Given the description of an element on the screen output the (x, y) to click on. 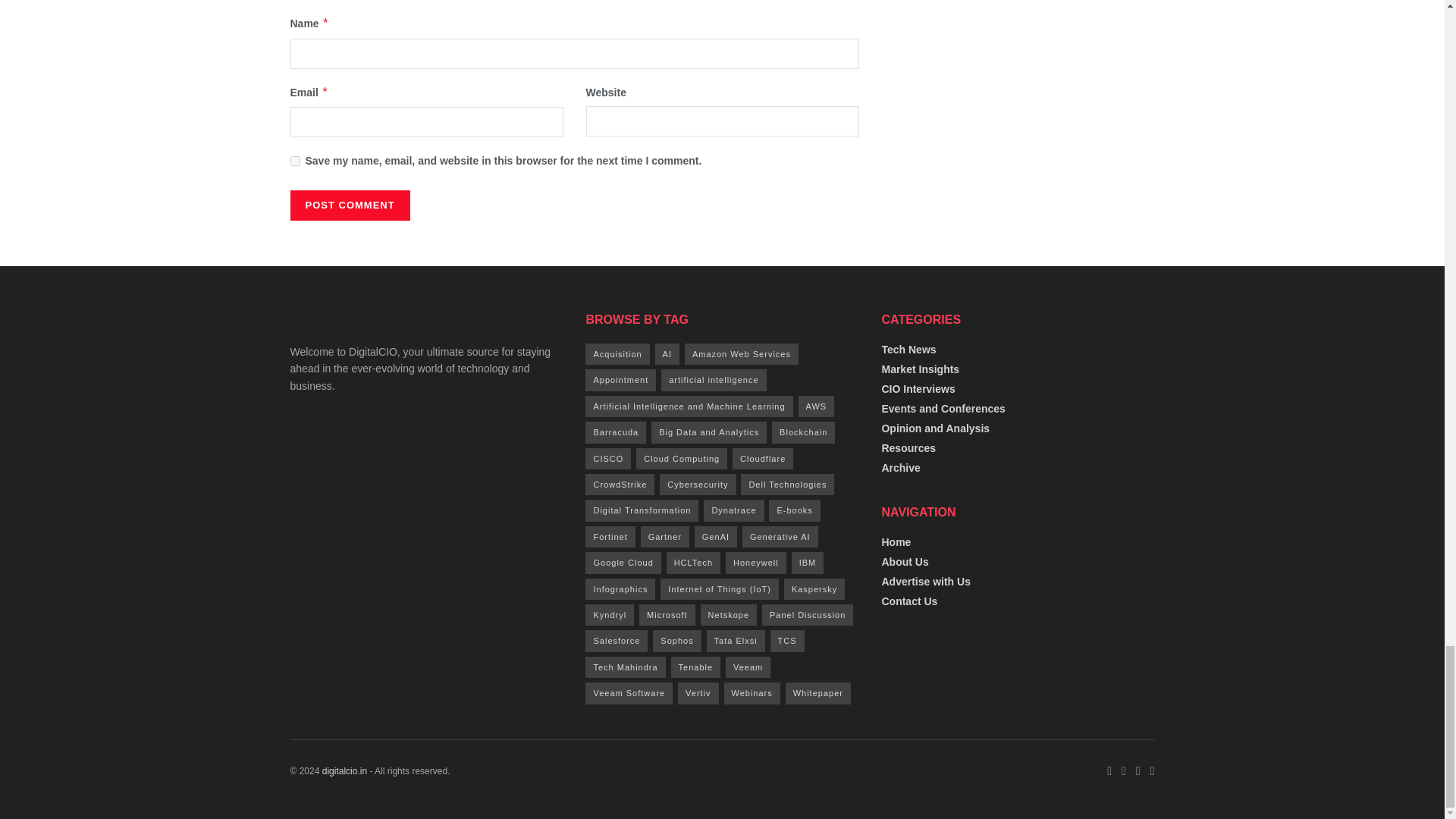
Post Comment (349, 205)
yes (294, 161)
